Given the description of an element on the screen output the (x, y) to click on. 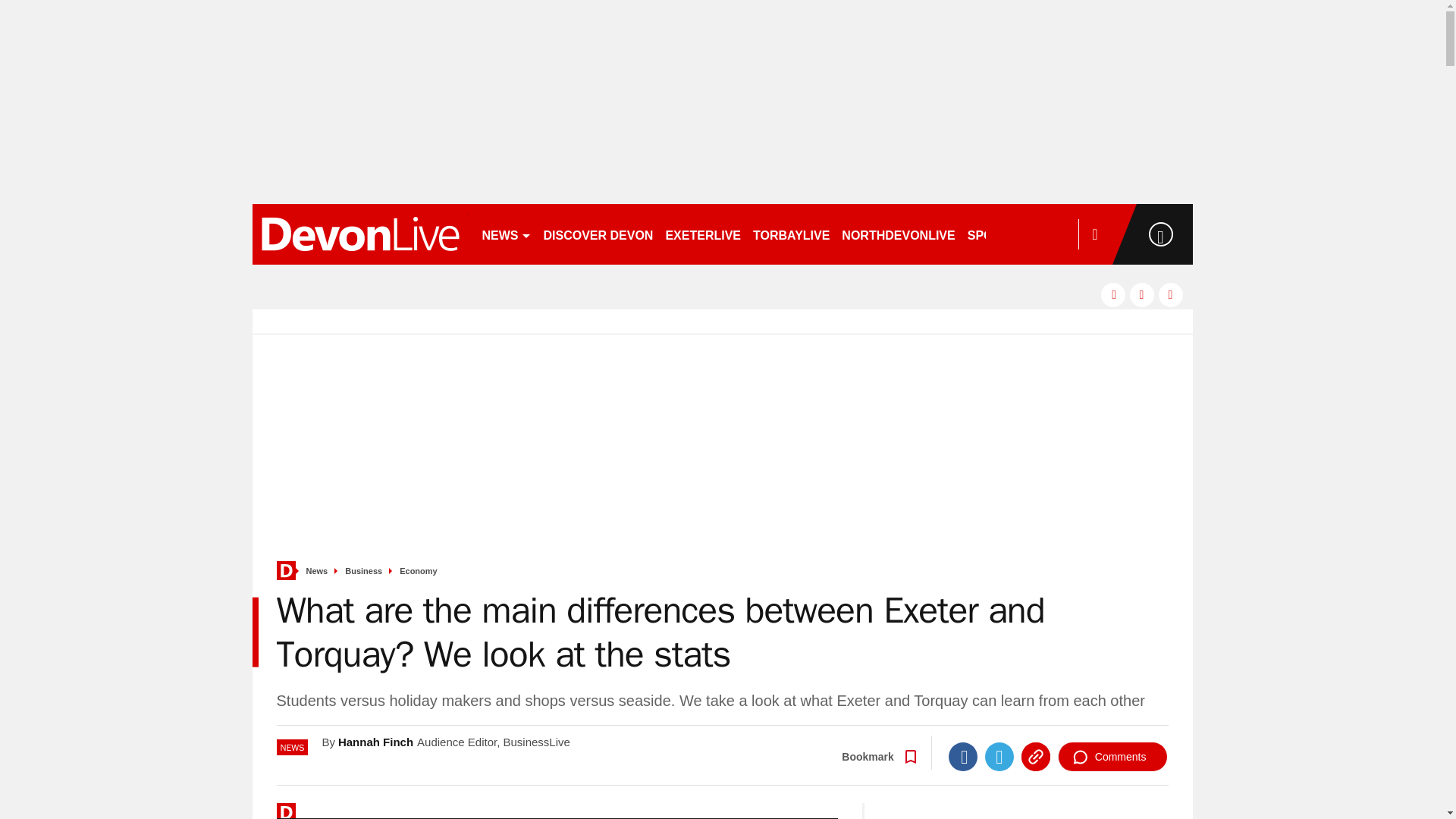
Twitter (999, 756)
TORBAYLIVE (790, 233)
SPORT (993, 233)
Facebook (962, 756)
instagram (1170, 294)
NORTHDEVONLIVE (897, 233)
facebook (1112, 294)
DISCOVER DEVON (598, 233)
NEWS (506, 233)
devonlive (359, 233)
EXETERLIVE (702, 233)
twitter (1141, 294)
Comments (1112, 756)
